Given the description of an element on the screen output the (x, y) to click on. 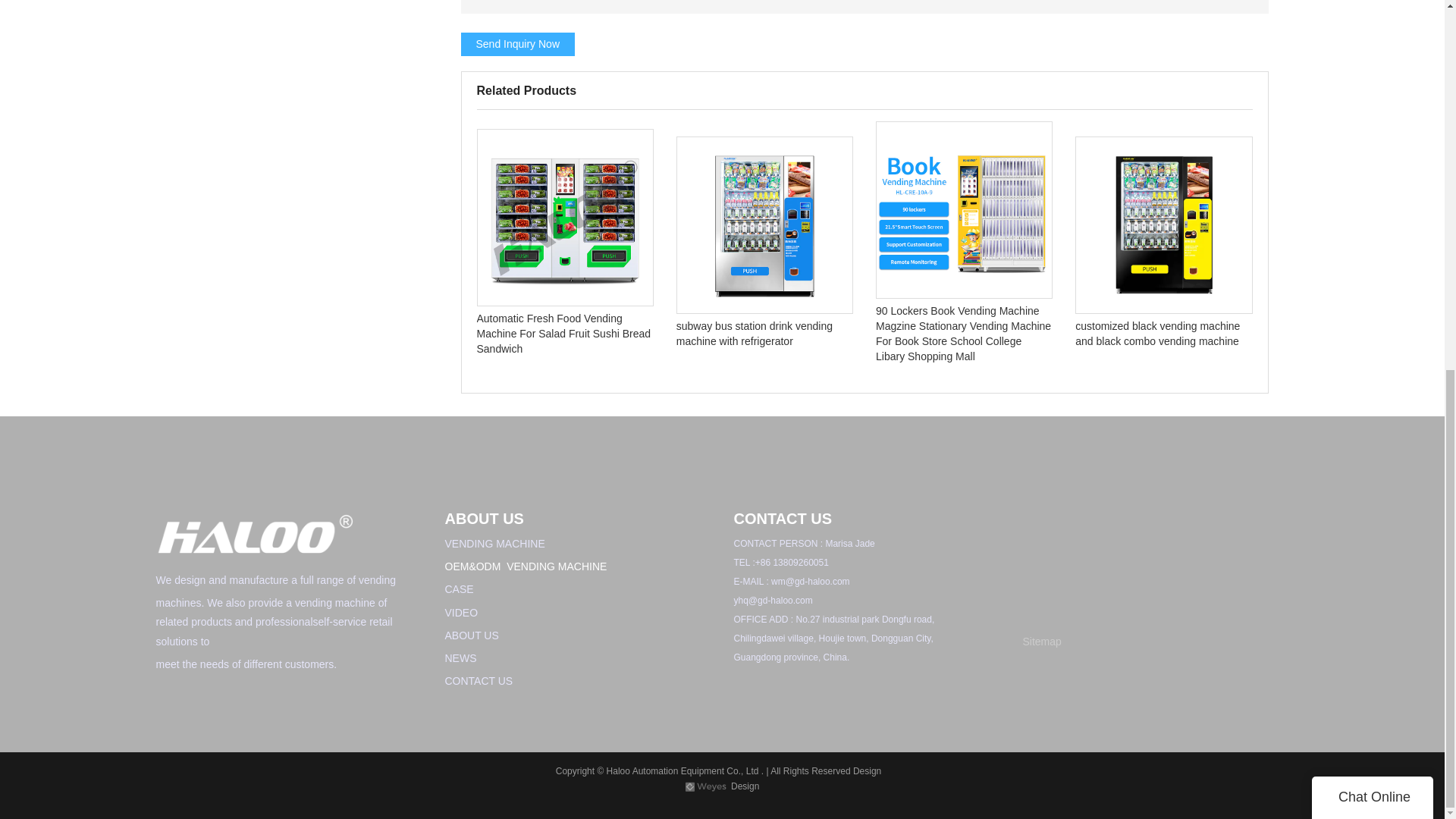
Send Inquiry Now (518, 43)
